Given the description of an element on the screen output the (x, y) to click on. 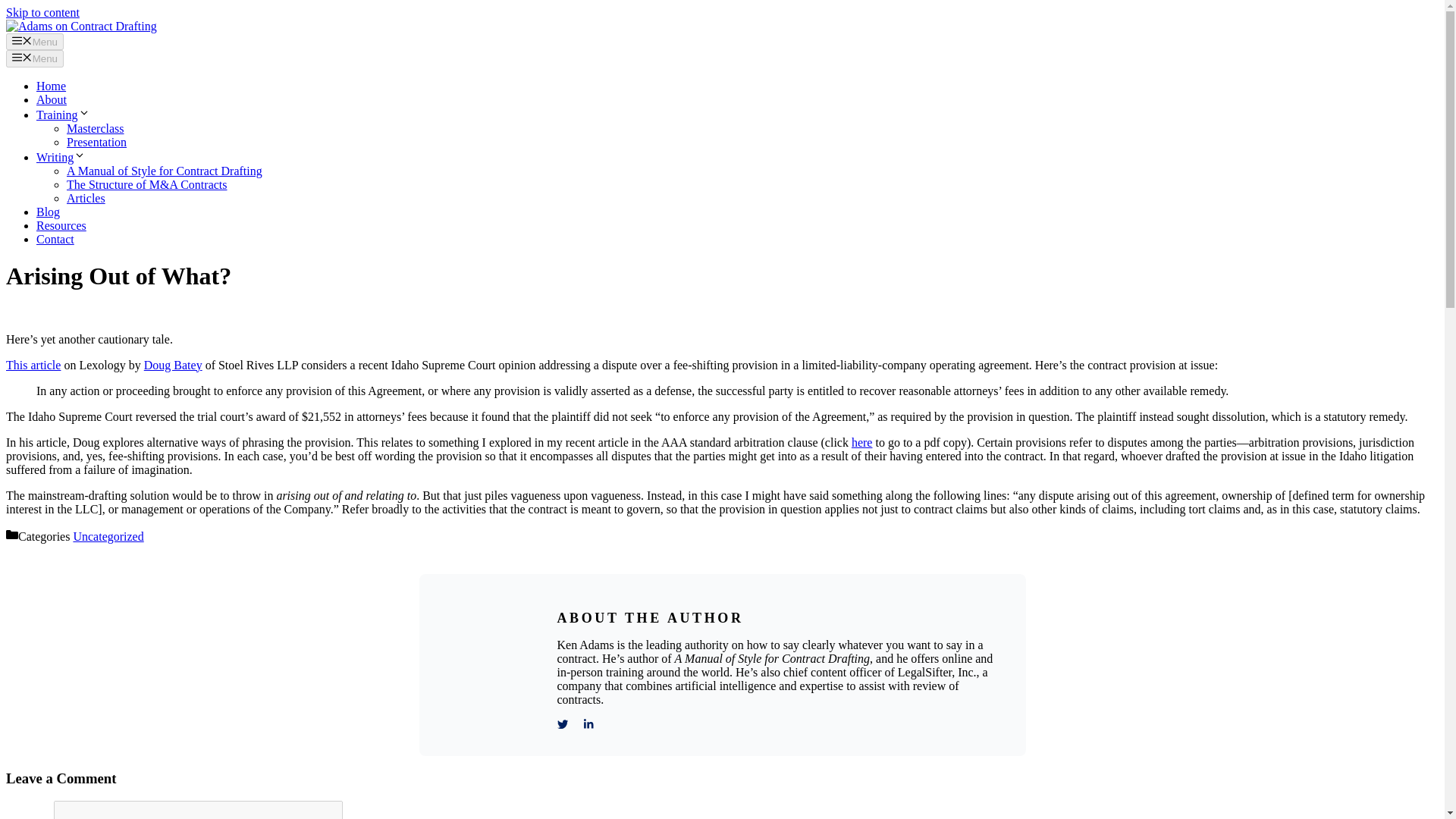
View all posts by Ken Adams (191, 313)
Skip to content (42, 11)
Uncategorized (107, 535)
Articles (85, 197)
This article (33, 364)
Menu (34, 41)
Presentation (96, 141)
Masterclass (94, 128)
Resources (60, 225)
Training (63, 114)
